Given the description of an element on the screen output the (x, y) to click on. 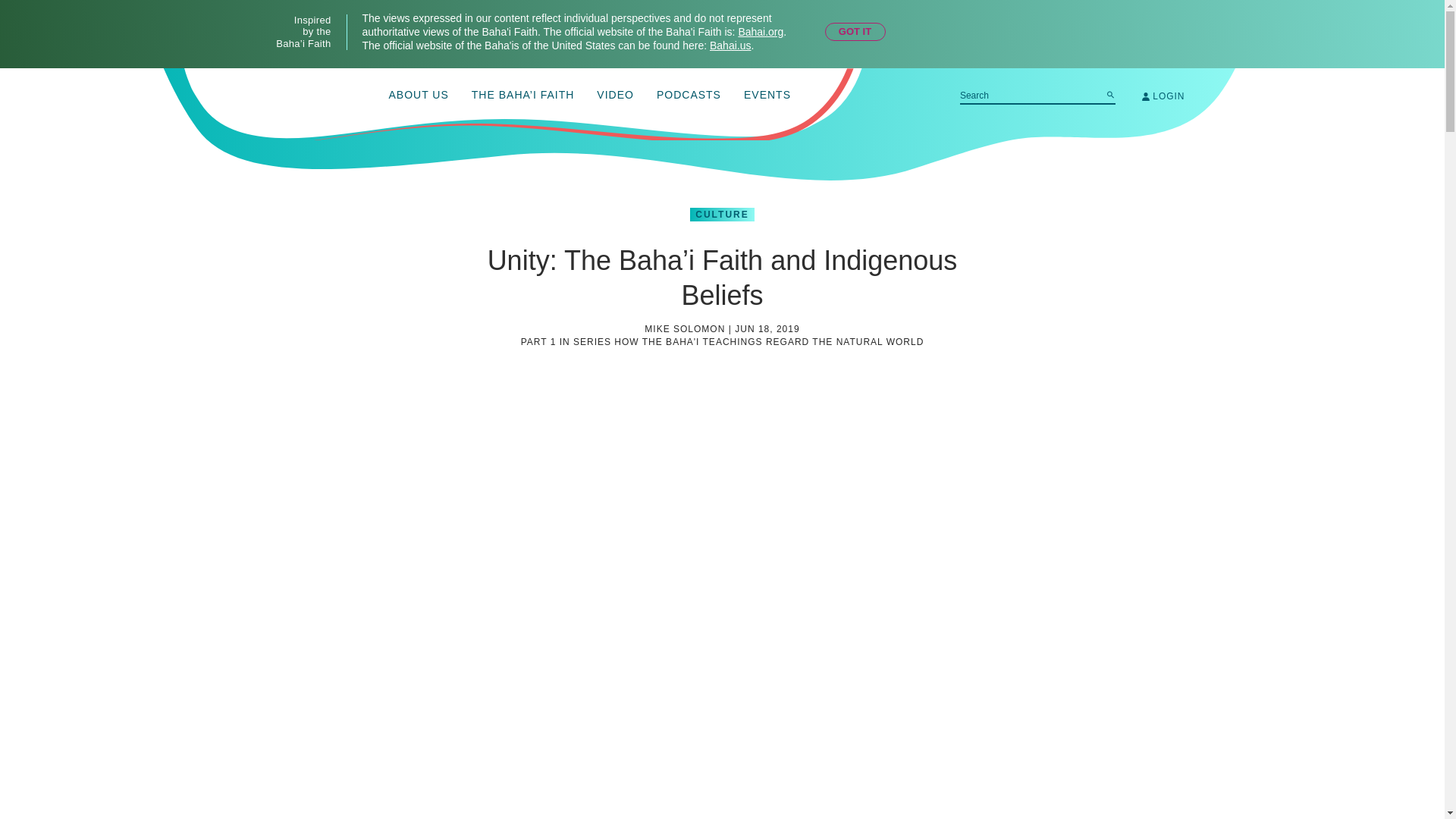
EVENTS (767, 96)
CULTURE (722, 214)
Bahai.us (730, 45)
Bahai.org (760, 31)
HOW THE BAHA'I TEACHINGS REGARD THE NATURAL WORLD (768, 341)
Search for: (1037, 95)
LOGIN (1163, 95)
GOT IT (855, 31)
Search (1110, 94)
PODCASTS (688, 96)
ABOUT US (418, 96)
VIDEO (614, 96)
